Given the description of an element on the screen output the (x, y) to click on. 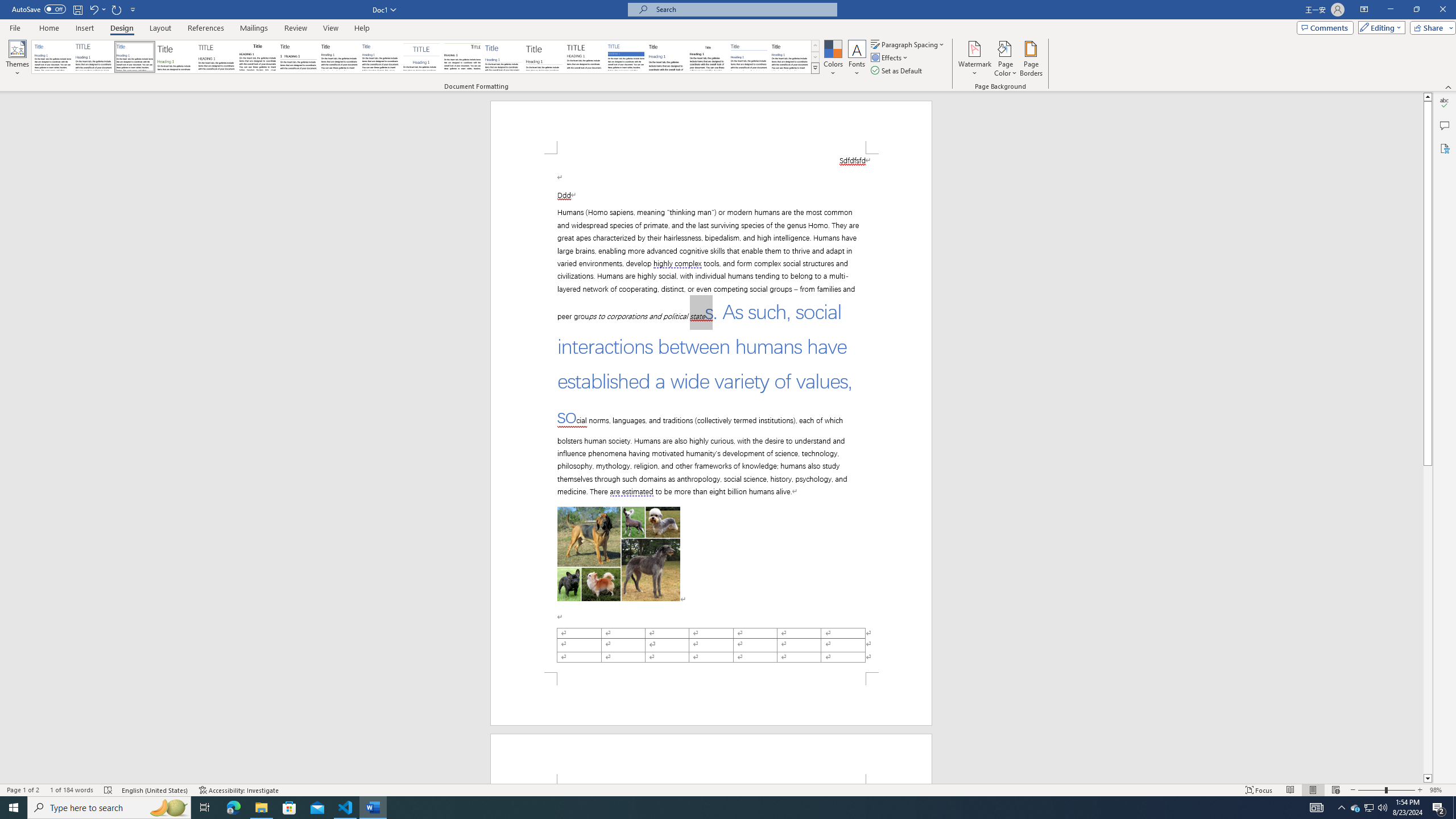
AutomationID: QuickStylesSets (425, 56)
Footer -Section 1- (710, 698)
Word 2013 (790, 56)
Centered (421, 56)
Basic (Elegant) (93, 56)
Page Color (1005, 58)
Editing (1379, 27)
Themes (17, 58)
Lines (Simple) (503, 56)
Basic (Stylish) (175, 56)
Word (666, 56)
